Given the description of an element on the screen output the (x, y) to click on. 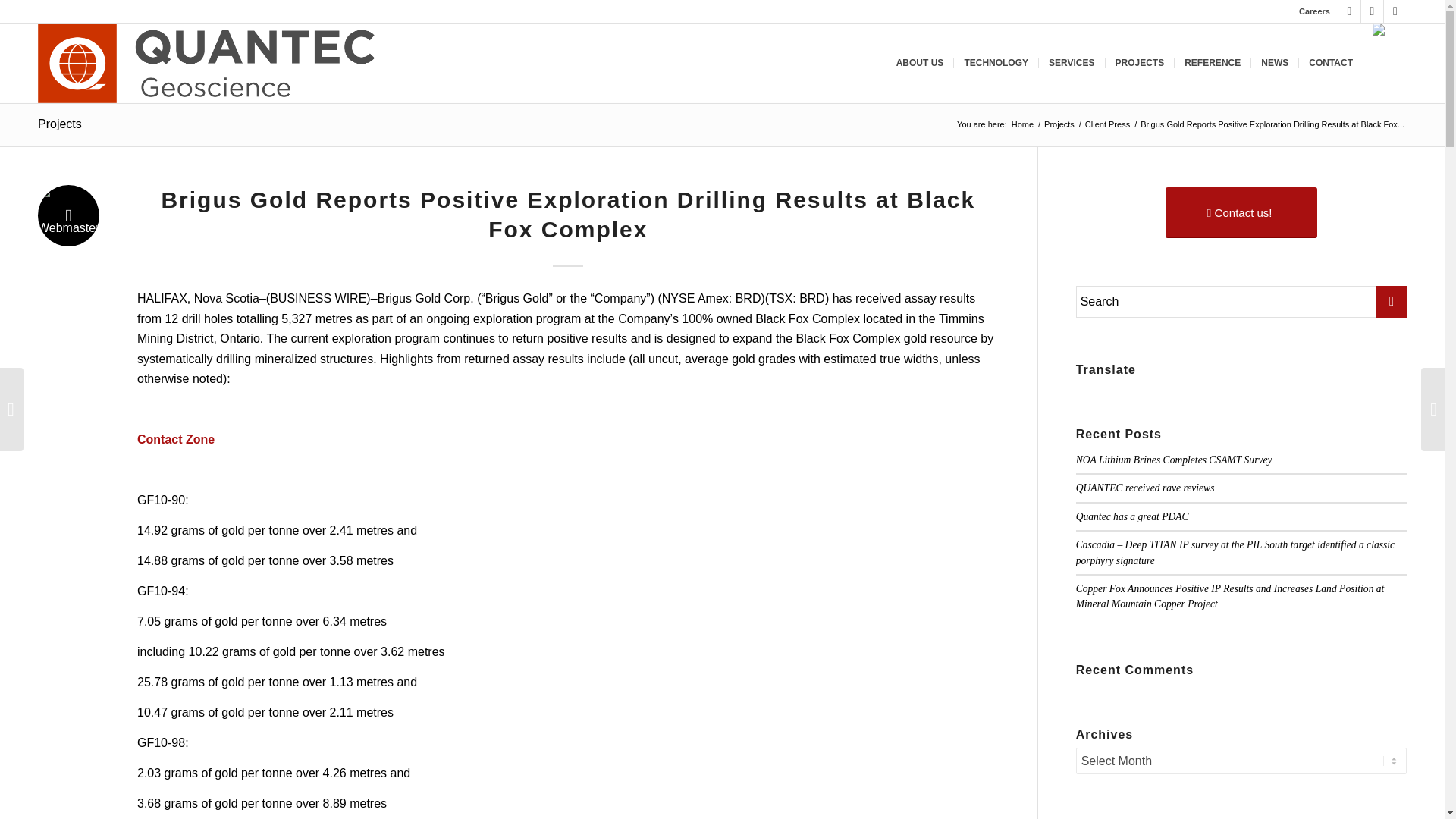
Quantec Geoscience (1022, 124)
Facebook (1372, 11)
TECHNOLOGY (995, 63)
REFERENCE (1211, 63)
Instagram (1348, 11)
Projects (1059, 124)
LinkedIn (1395, 11)
Permanent Link: Projects (59, 123)
Careers (1314, 11)
